Given the description of an element on the screen output the (x, y) to click on. 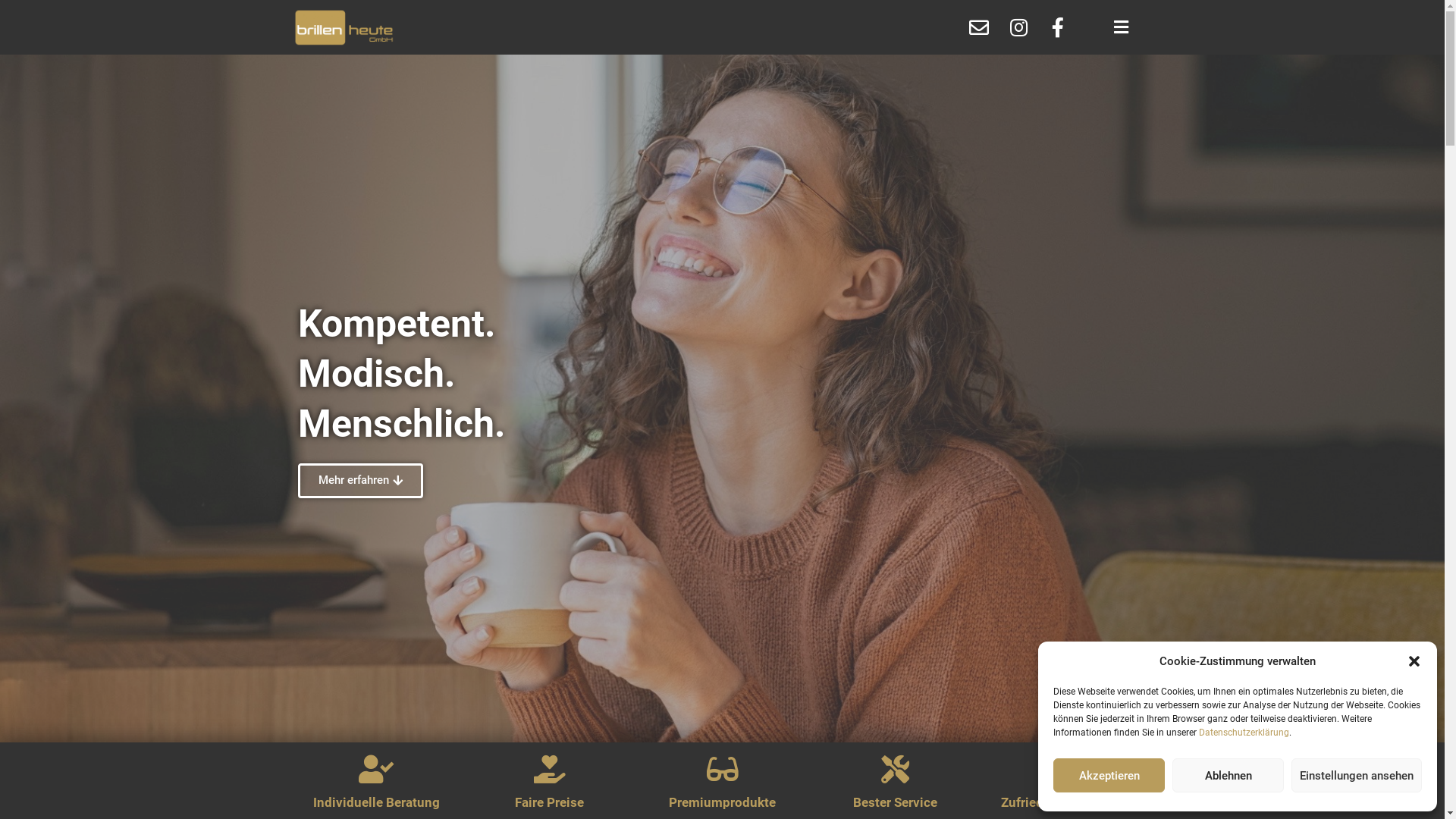
Einstellungen ansehen Element type: text (1356, 775)
Mehr erfahren Element type: text (359, 480)
Akzeptieren Element type: text (1108, 775)
Ablehnen Element type: text (1227, 775)
